Given the description of an element on the screen output the (x, y) to click on. 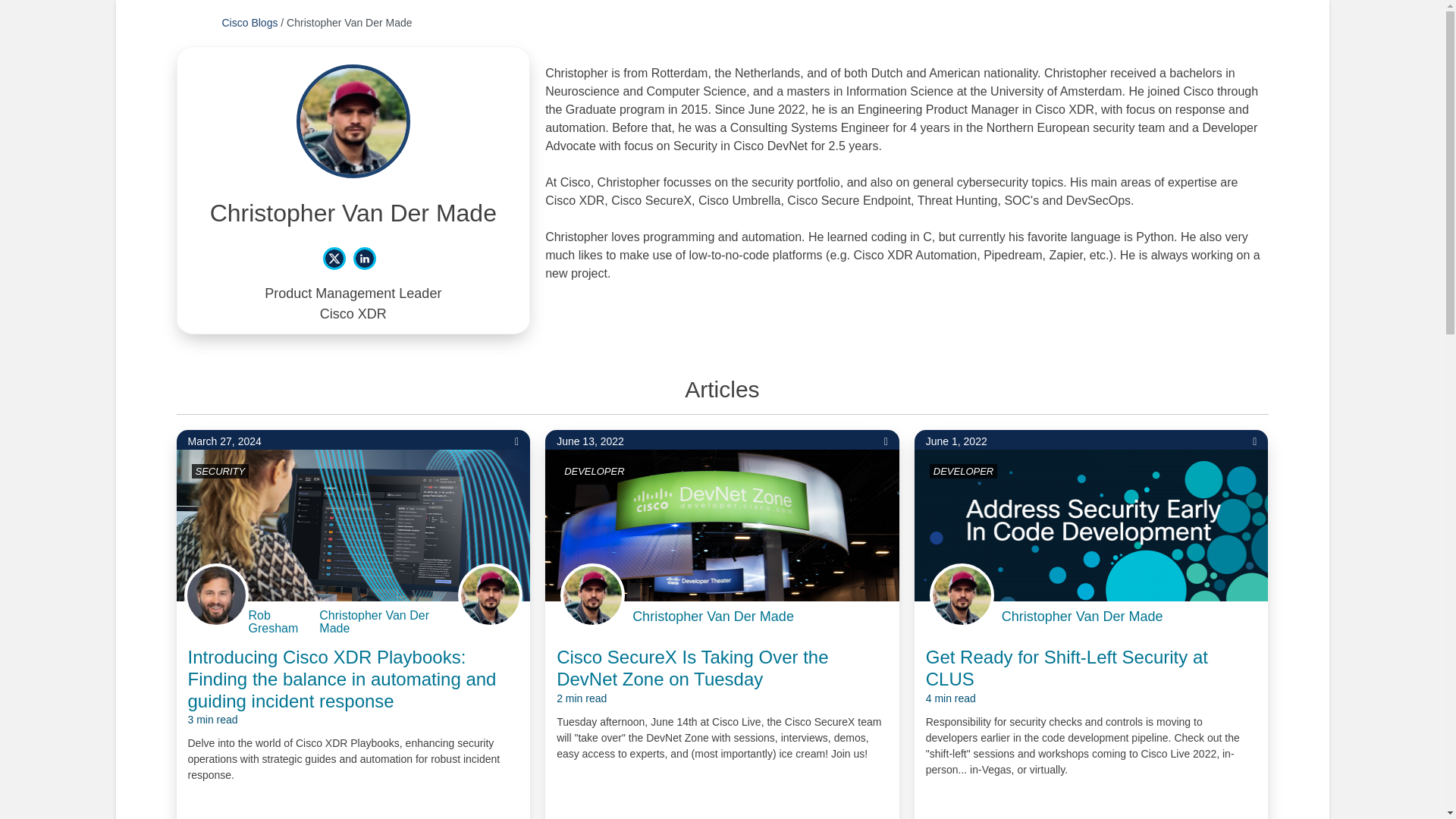
Rob Gresham (282, 622)
SECURITY (220, 470)
Christopher Van Der Made (712, 616)
Posts by Christopher Van Der Made (1082, 616)
Cisco Blogs (249, 22)
Posts by Christopher Van Der Made (712, 616)
Posts by Christopher Van Der Made (493, 616)
DEVELOPER (962, 470)
Cisco SecureX Is Taking Over the DevNet Zone on Tuesday (722, 676)
